Given the description of an element on the screen output the (x, y) to click on. 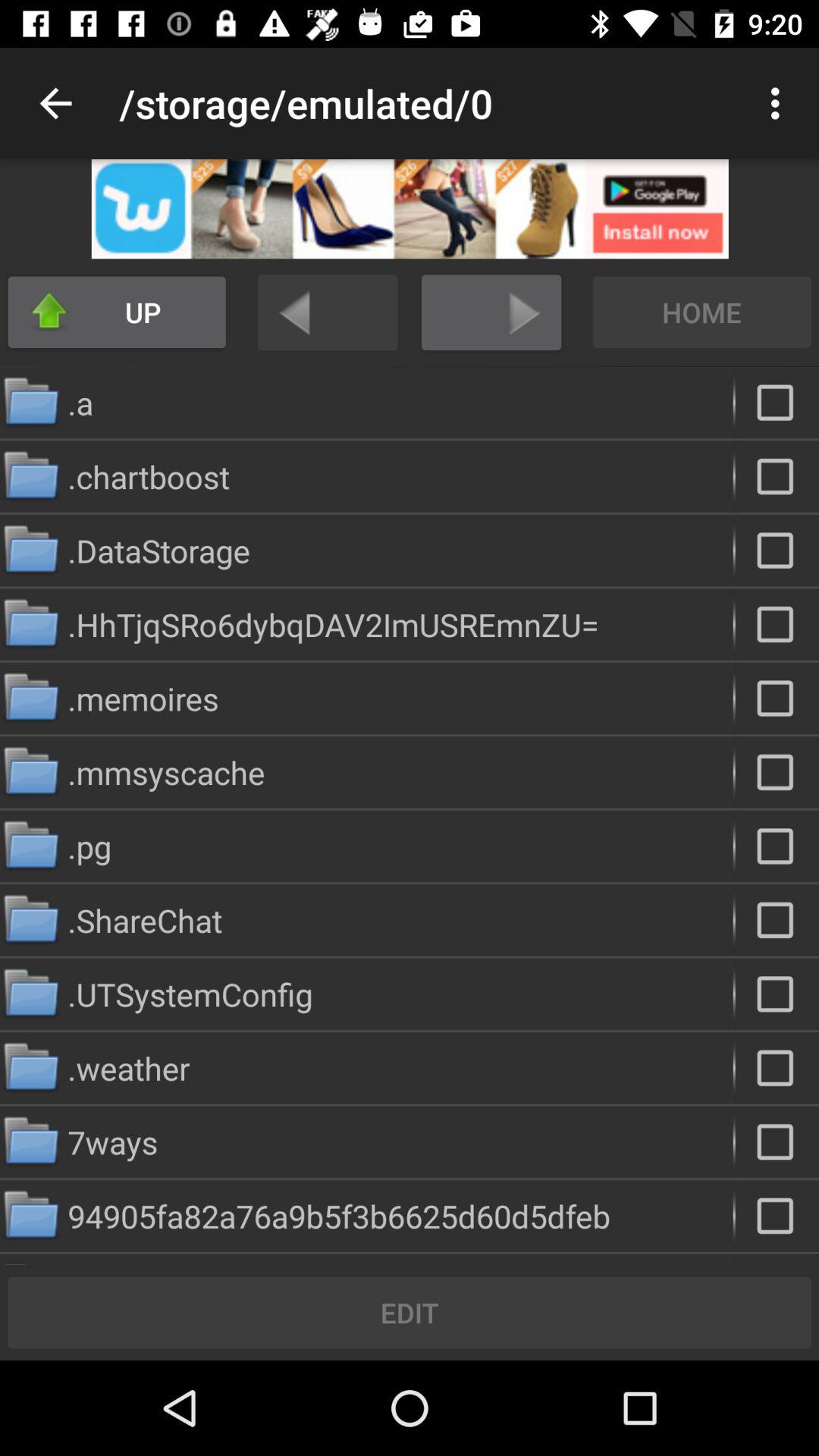
view next page (491, 312)
